Given the description of an element on the screen output the (x, y) to click on. 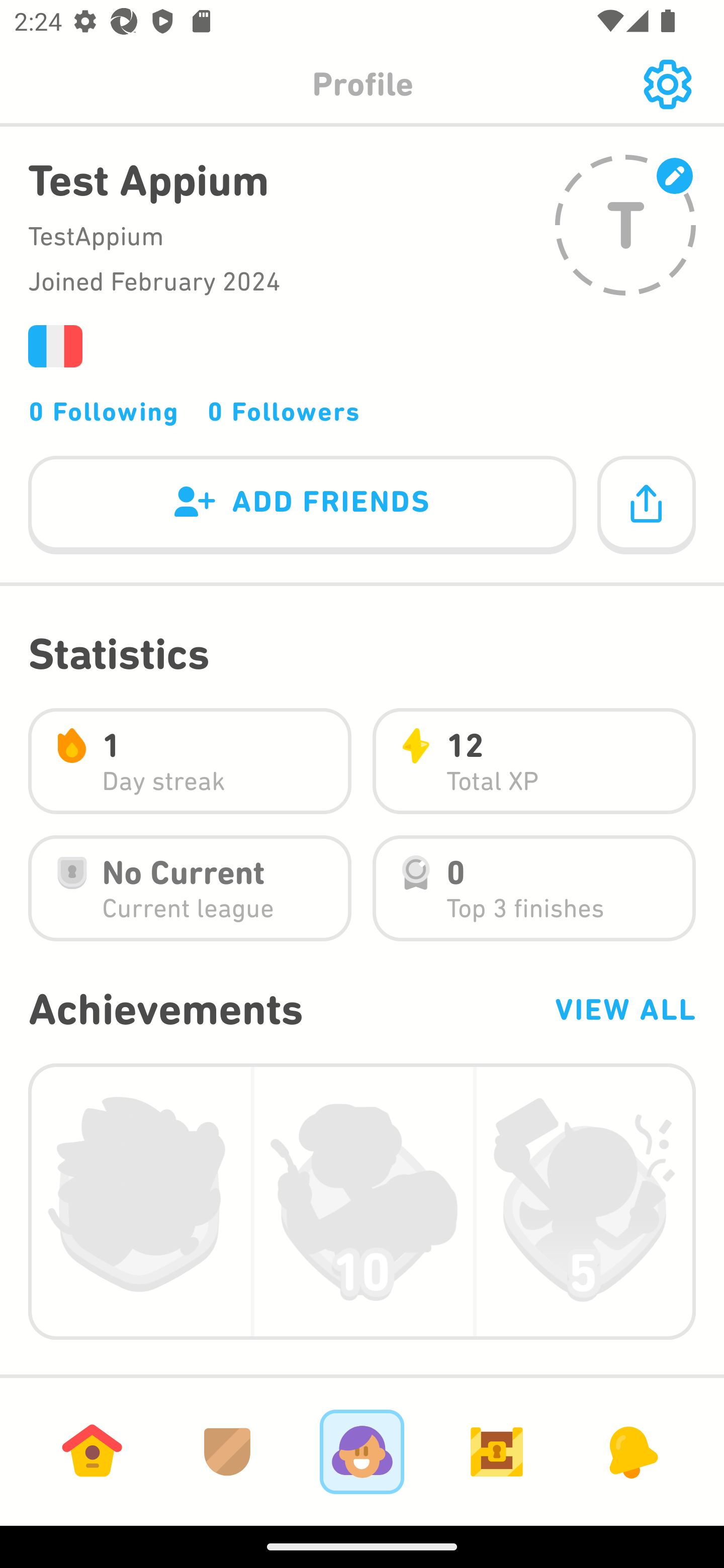
Settings (667, 84)
0 Following (103, 411)
0 Followers (283, 411)
ADD FRIENDS (302, 505)
1 Day streak (189, 760)
VIEW ALL (624, 1009)
Learn Tab (91, 1451)
Leagues Tab (227, 1451)
Profile Tab (361, 1451)
Goals Tab (496, 1451)
News Tab (631, 1451)
